Given the description of an element on the screen output the (x, y) to click on. 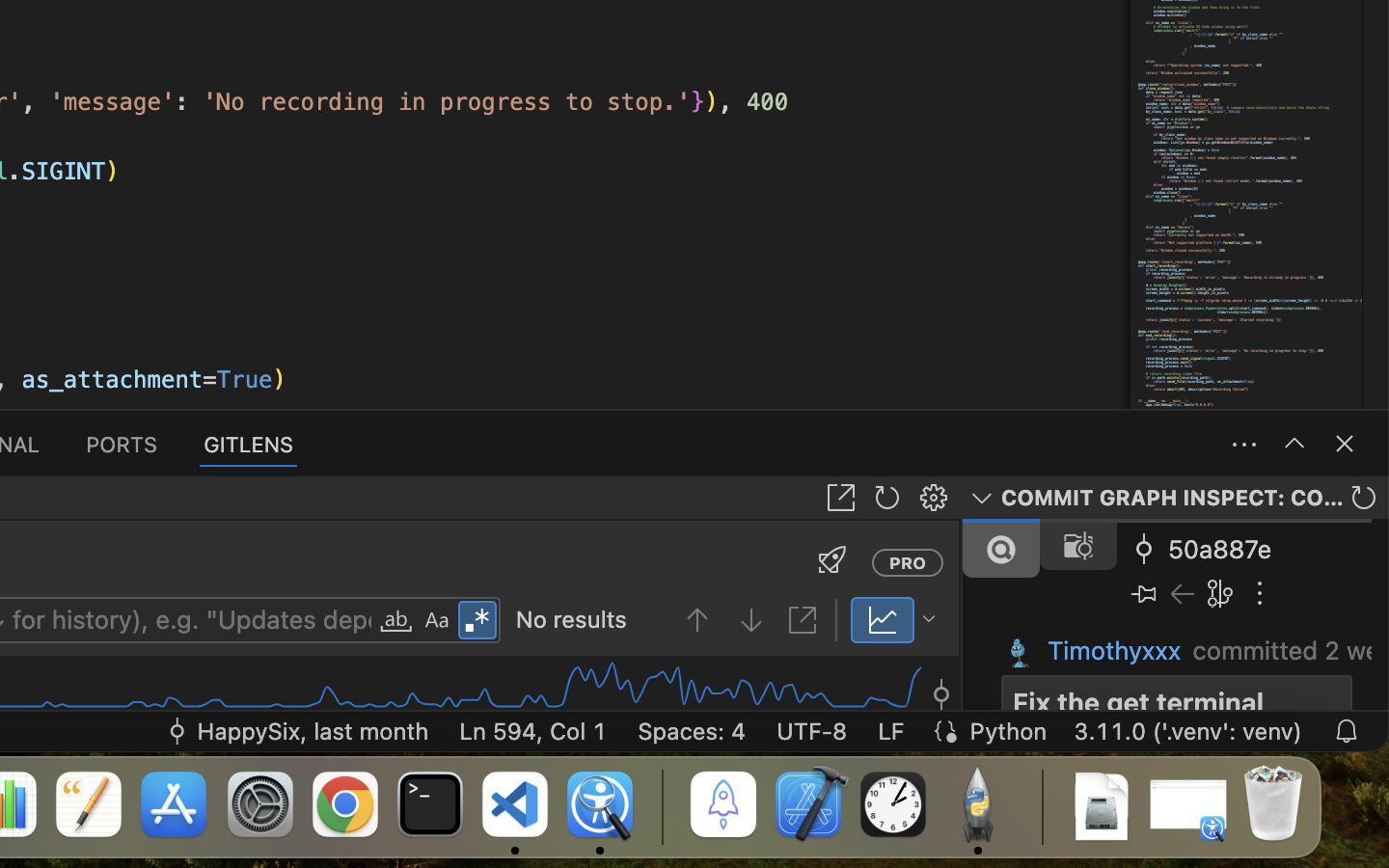
 Element type: AXButton (840, 497)
 Element type: AXCheckBox (1294, 443)
No results    Element type: AXGroup (670, 620)
HappySix, last month  Element type: AXButton (296, 730)
 Element type: AXGroup (941, 682)
